Given the description of an element on the screen output the (x, y) to click on. 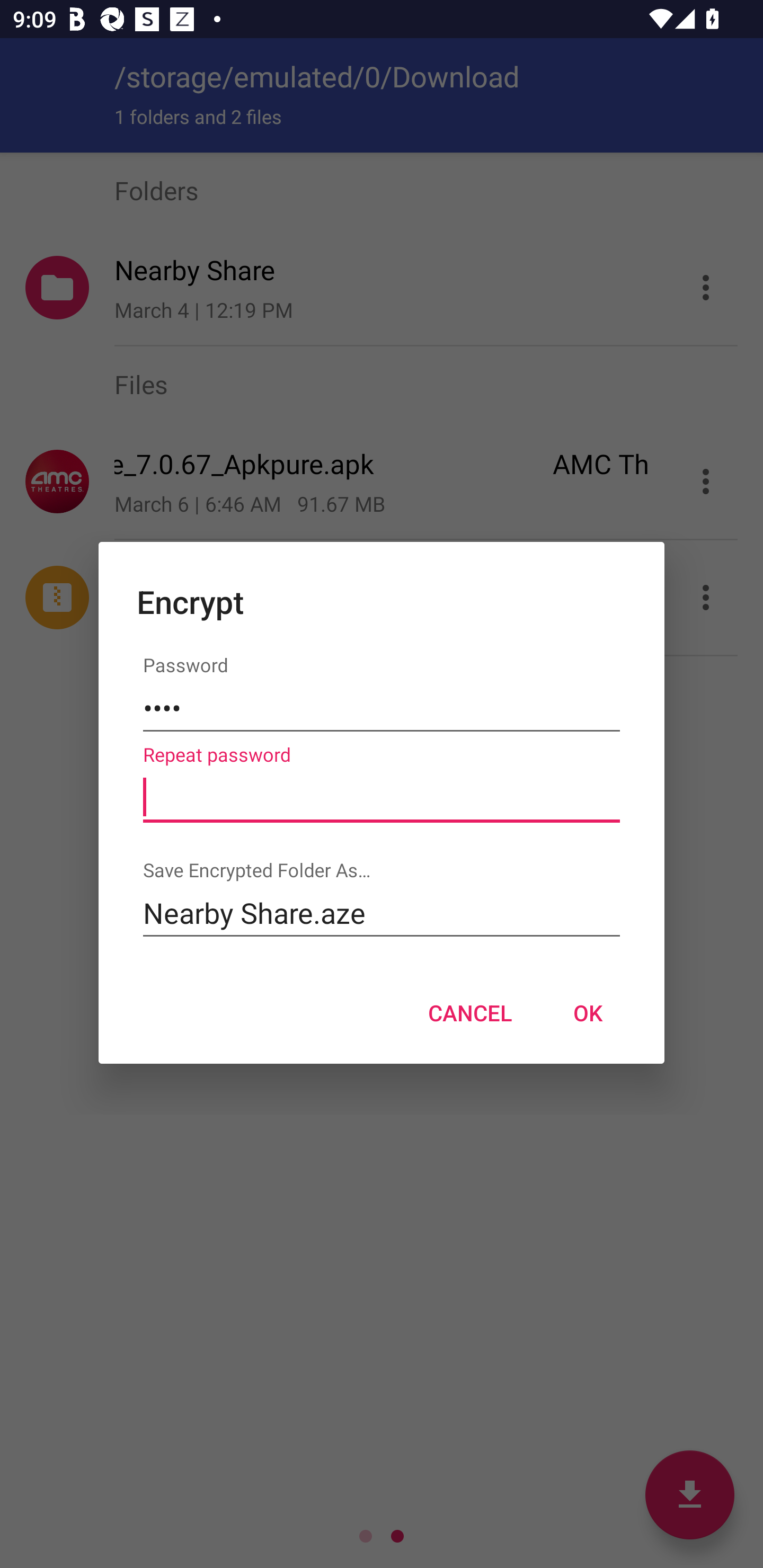
sofa (381, 708)
Repeat password (381, 798)
Nearby Share.aze (381, 912)
CANCEL (469, 1012)
OK (588, 1012)
